Given the description of an element on the screen output the (x, y) to click on. 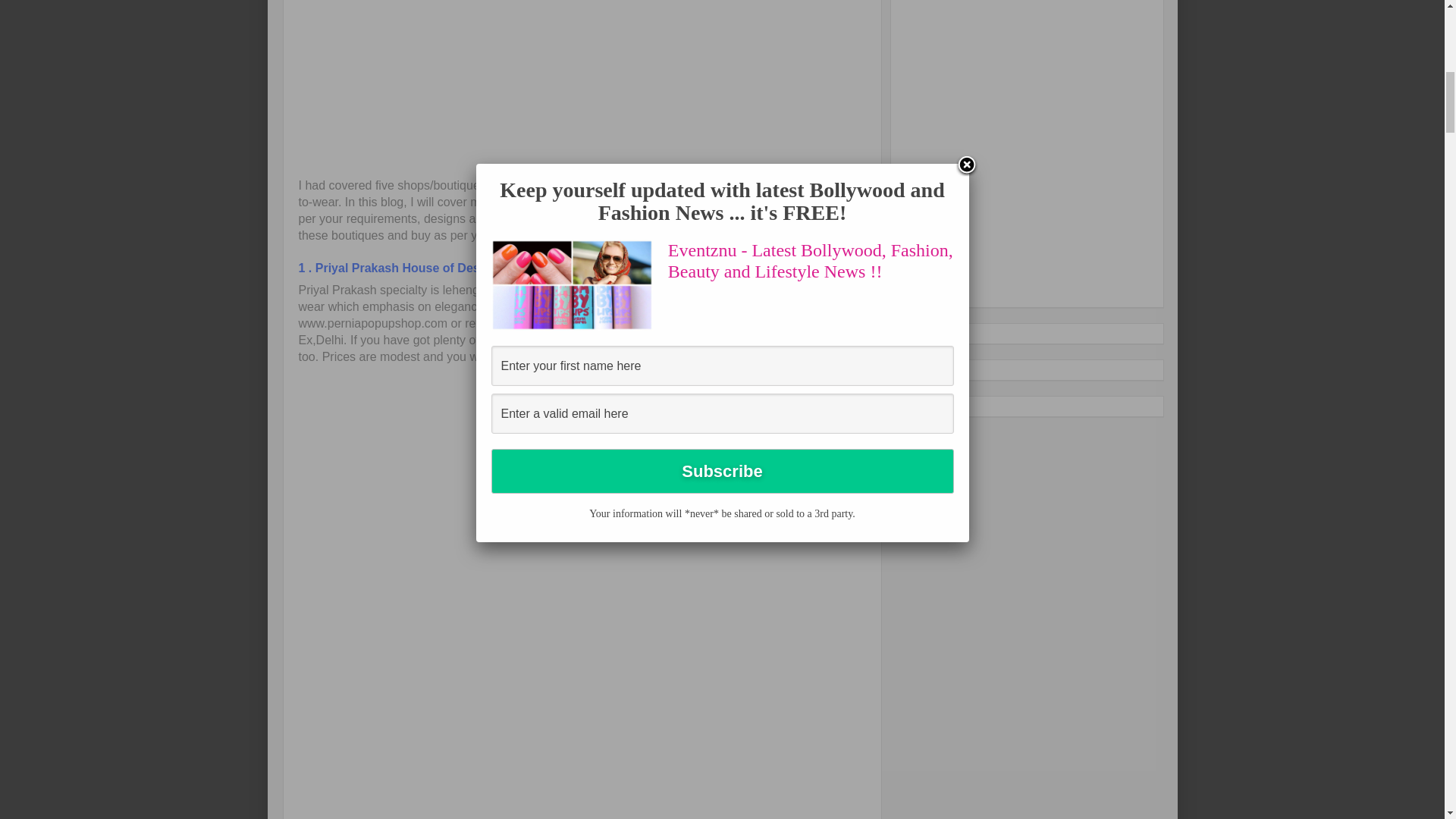
Advertisement (425, 86)
